Given the description of an element on the screen output the (x, y) to click on. 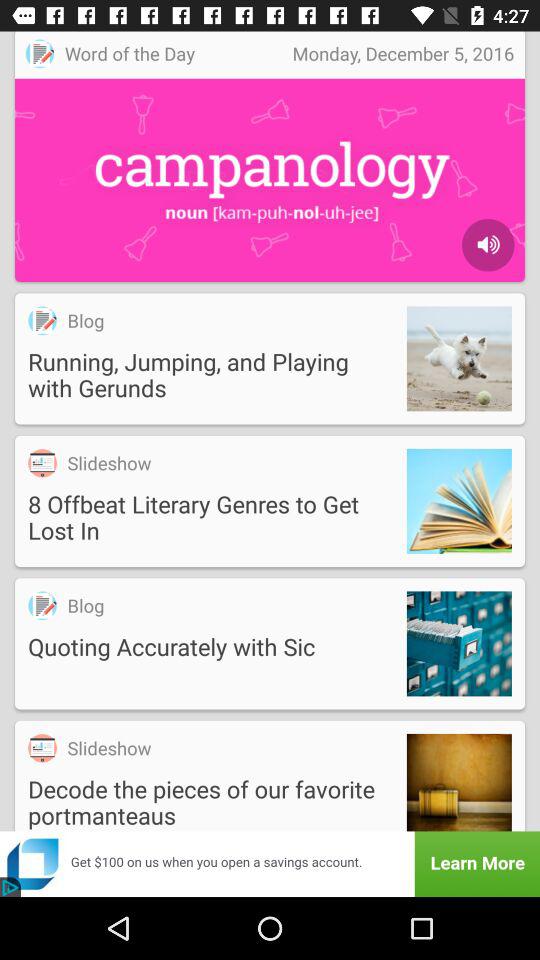
volume (488, 245)
